Given the description of an element on the screen output the (x, y) to click on. 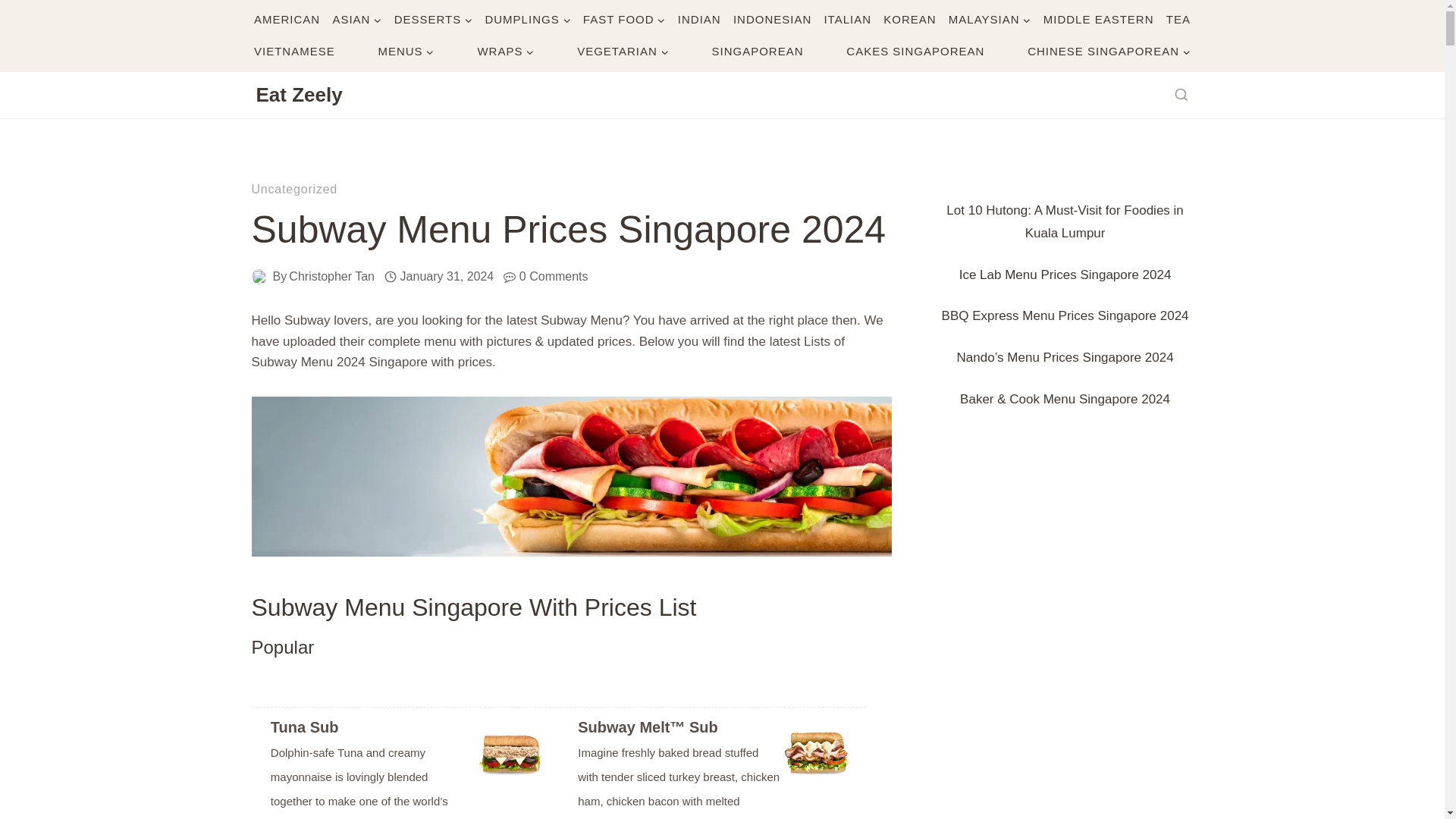
KOREAN (909, 20)
AMERICAN (287, 20)
INDIAN (698, 20)
ITALIAN (847, 20)
DUMPLINGS (527, 20)
ASIAN (356, 20)
FAST FOOD (623, 20)
MALAYSIAN (989, 20)
Subway Menu Prices Singapore 2024 1 (571, 476)
TEA (1177, 20)
